Given the description of an element on the screen output the (x, y) to click on. 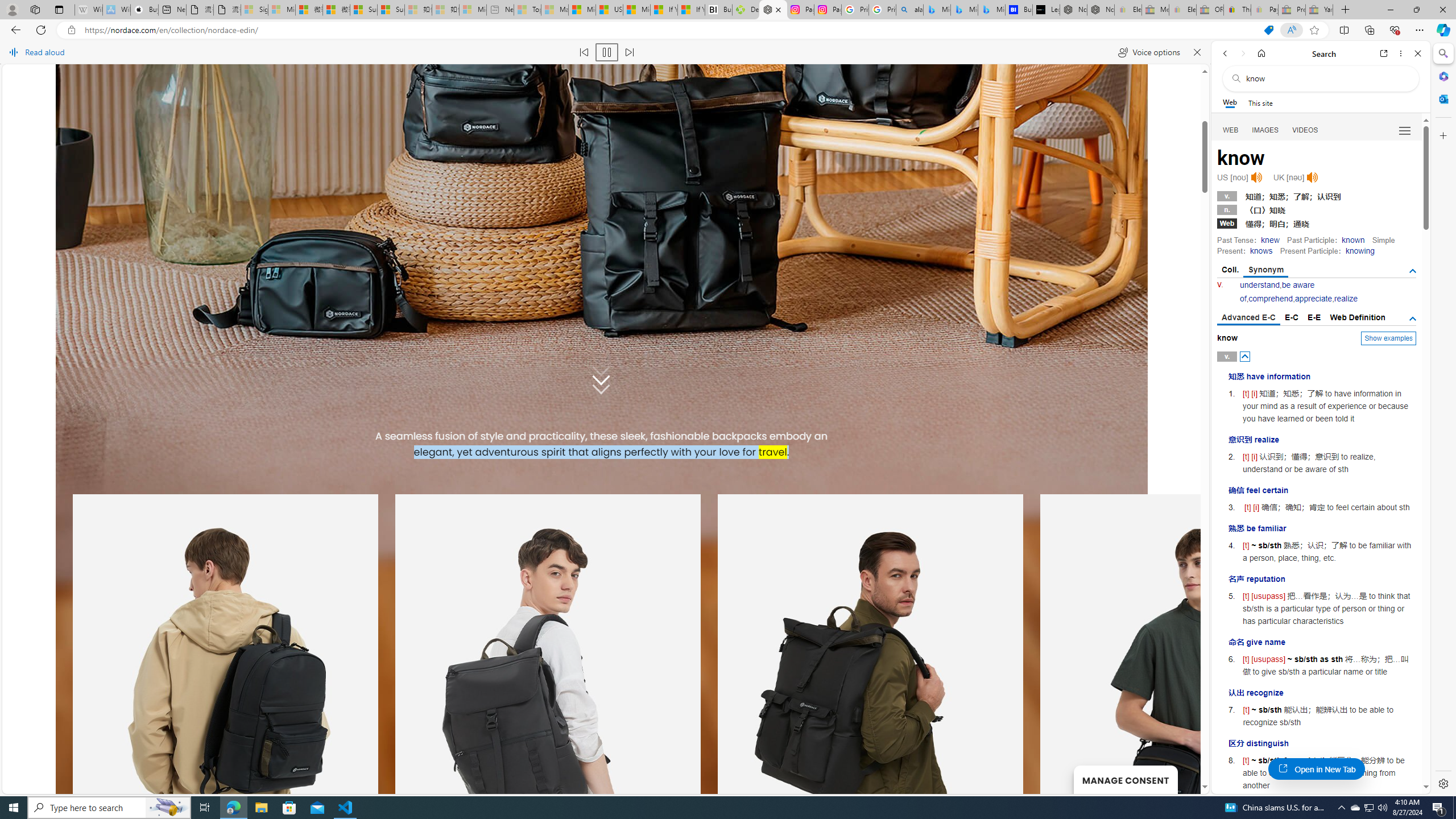
Click to listen (1312, 177)
E-E (1314, 317)
